Given the description of an element on the screen output the (x, y) to click on. 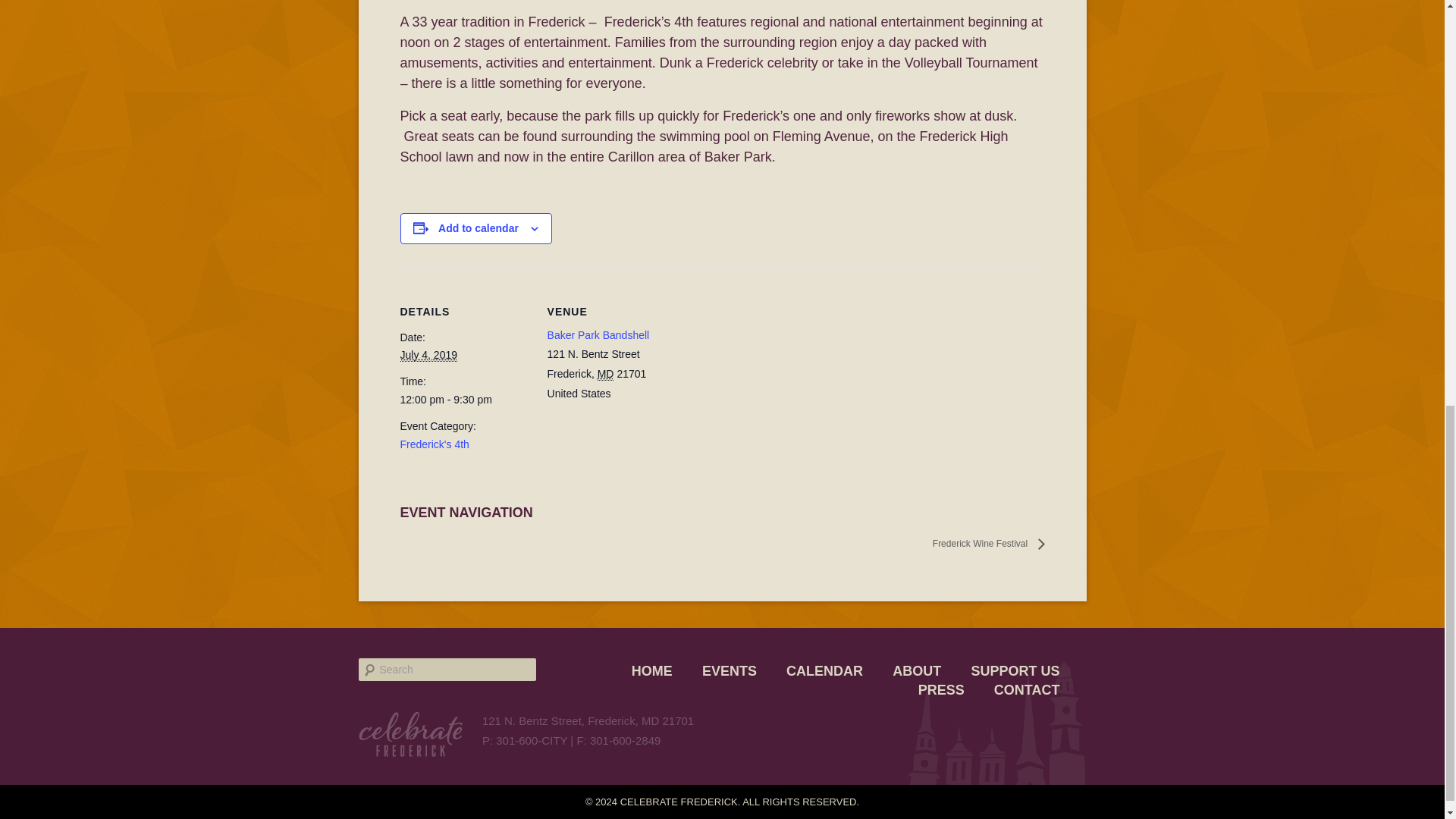
2019-07-04 (464, 399)
Baker Park Bandshell (598, 335)
Maryland (605, 373)
Frederick's 4th (434, 444)
Add to calendar (478, 227)
2019-07-04 (429, 354)
